Given the description of an element on the screen output the (x, y) to click on. 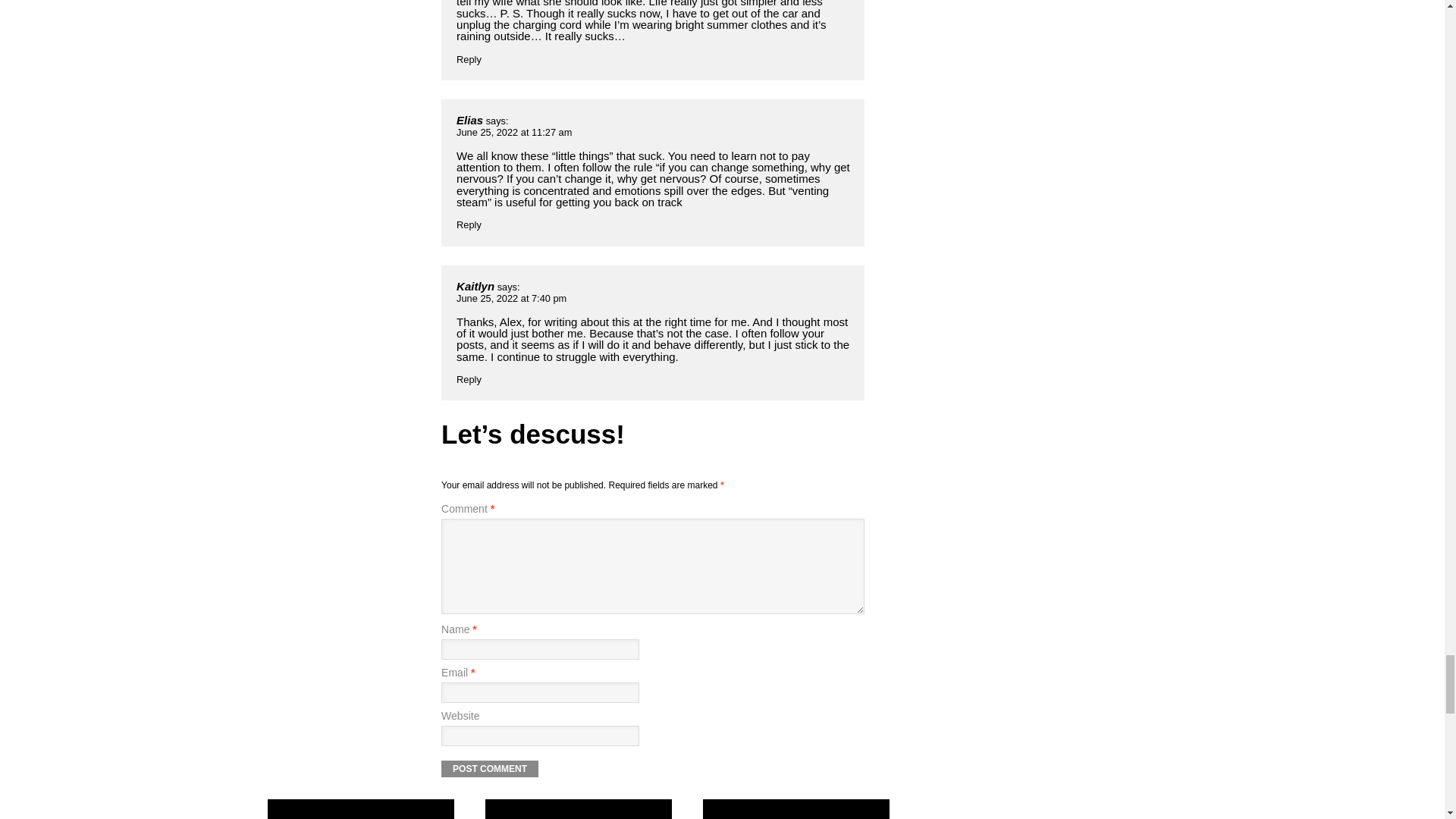
Post Comment (489, 768)
